Given the description of an element on the screen output the (x, y) to click on. 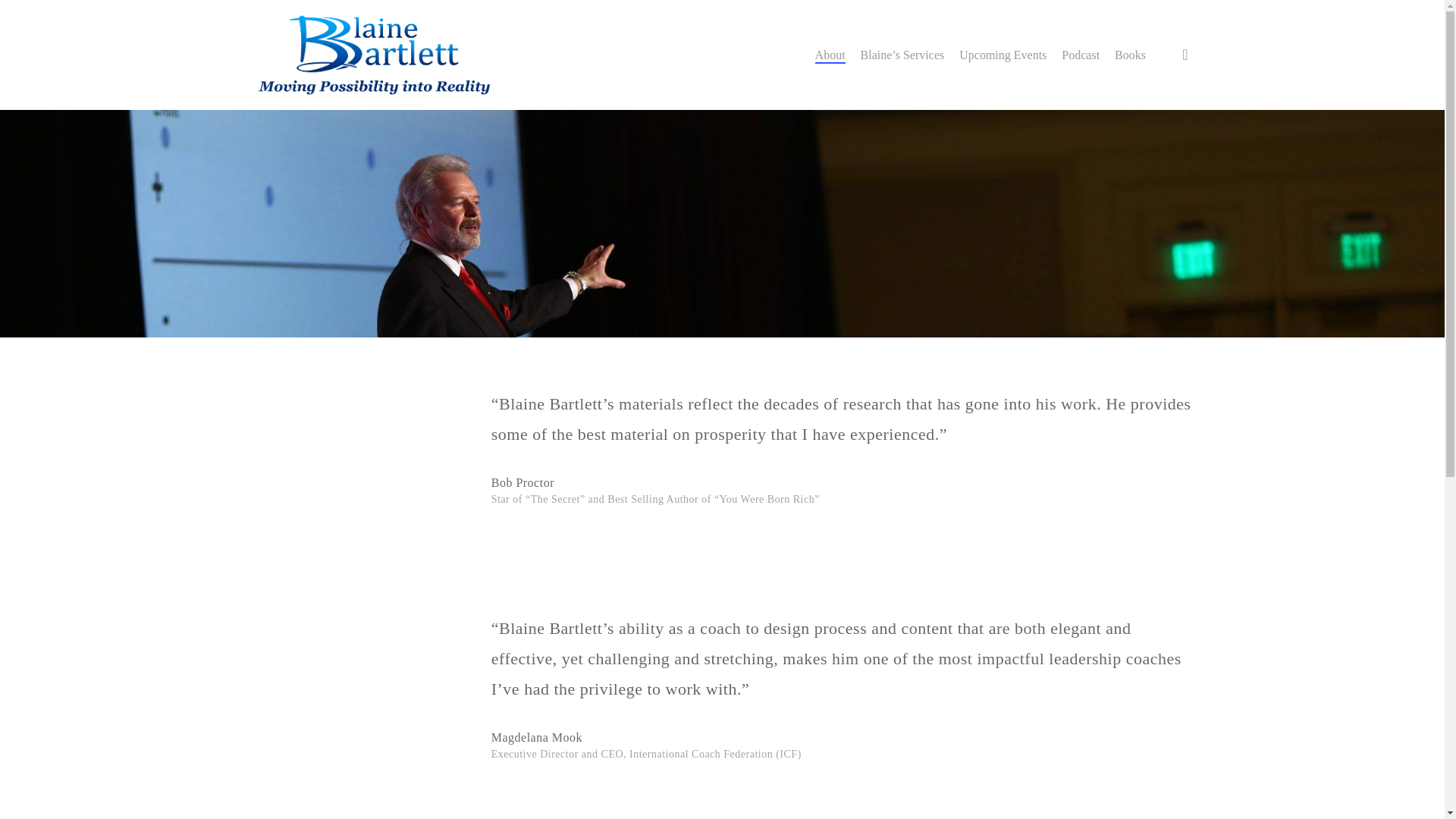
Upcoming Events (1002, 54)
search (1184, 54)
Books (1130, 54)
Podcast (1080, 54)
About (830, 54)
